Given the description of an element on the screen output the (x, y) to click on. 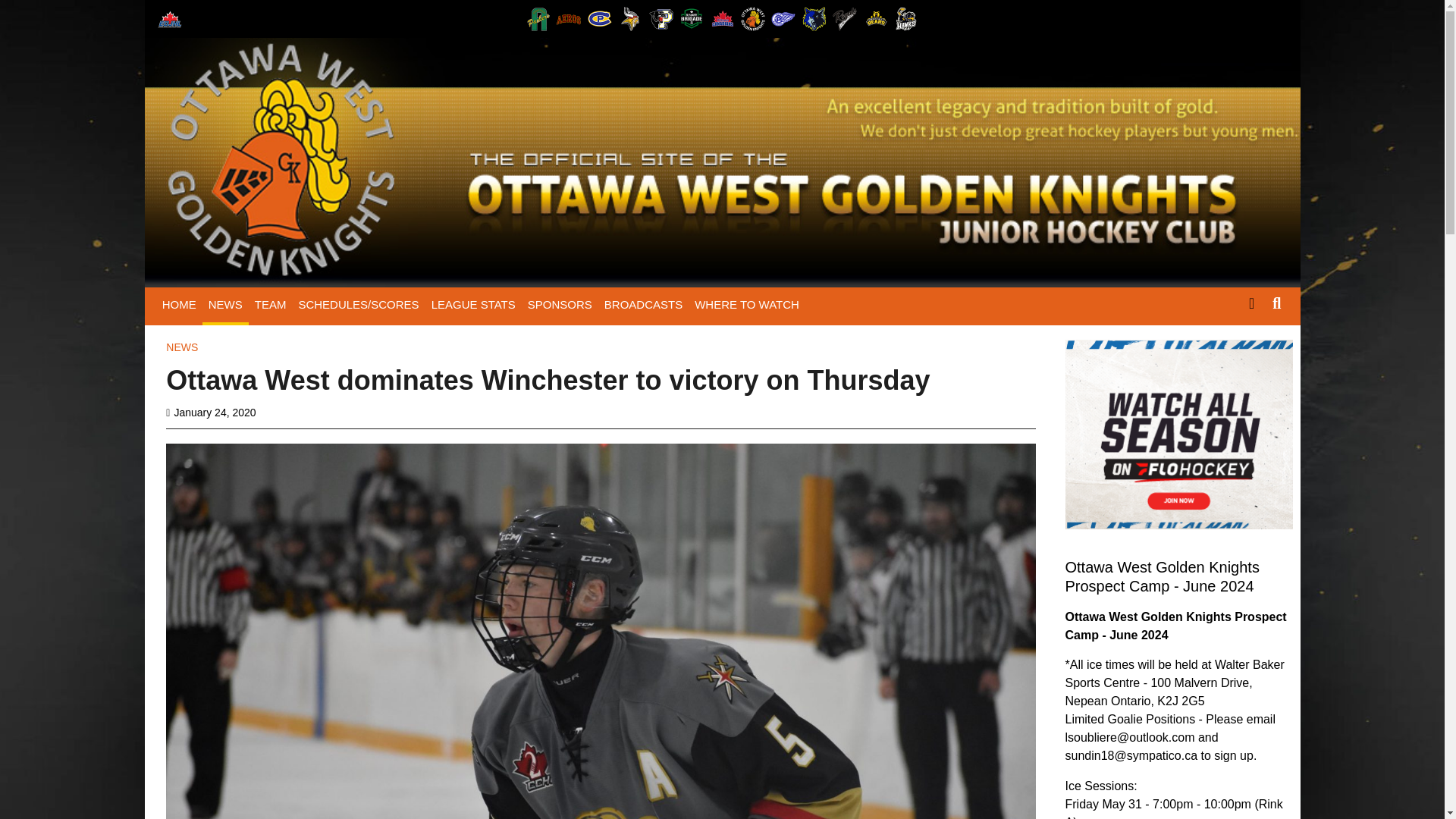
Perth Blue Wings (783, 18)
Winchester Hawks (906, 18)
Ottawa West Golden Knights (753, 18)
Richmond Royals (845, 18)
Eastern Ontario Junior Hockey League (169, 18)
Athens Aeros (568, 18)
Ottawa Canadians (721, 18)
Arnprior Packers (537, 18)
Glengarry Brigade (691, 18)
Carleton Place Jr Canadians (599, 18)
Casselman Vikings (629, 18)
Embrun Panthers (661, 18)
Renfrew Timberwolves (814, 18)
Smiths Falls Jr Bears (875, 18)
